Given the description of an element on the screen output the (x, y) to click on. 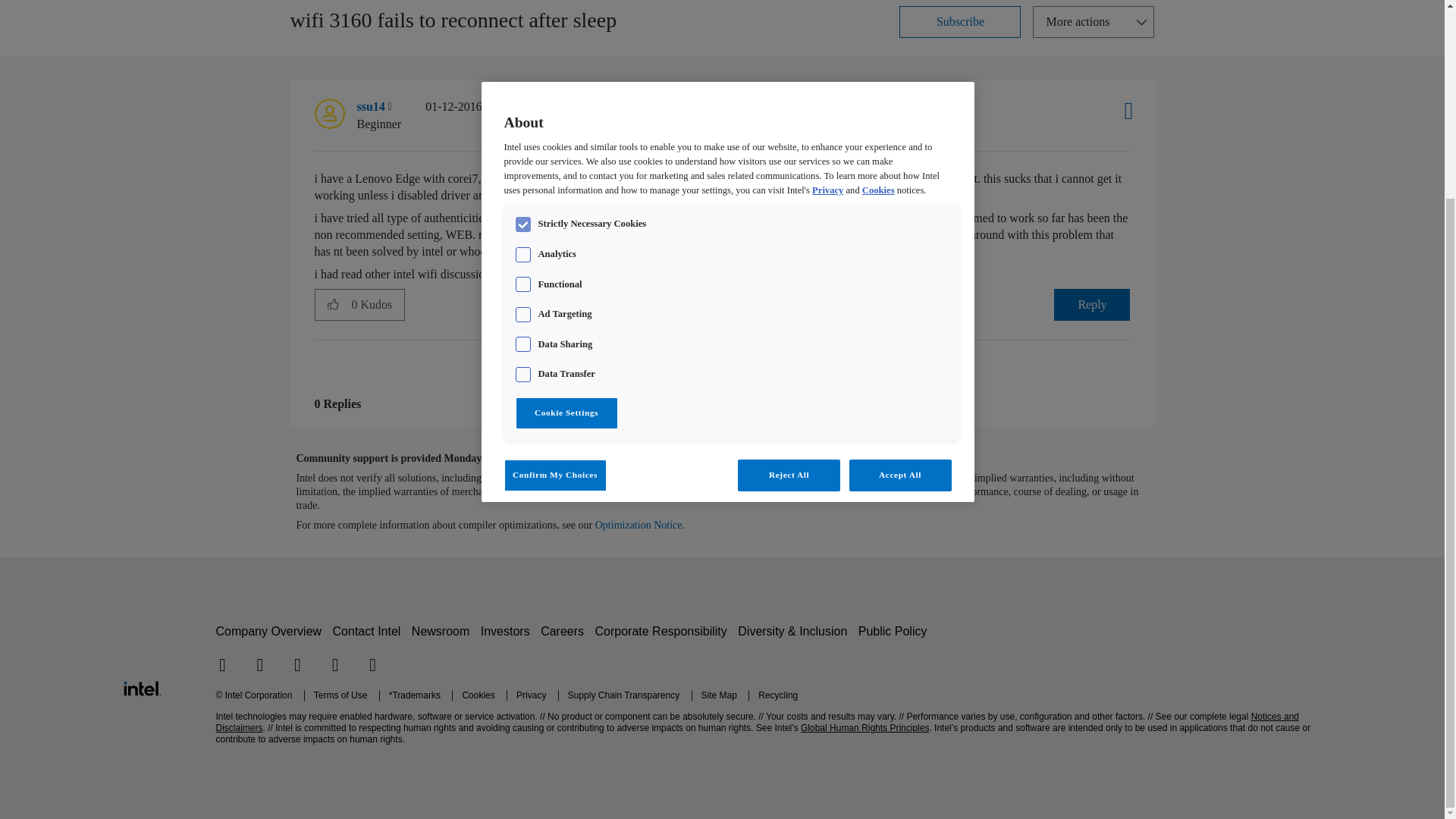
ssu14 (328, 113)
Click here to give kudos to this post. (332, 303)
The total number of kudos this post has received. (377, 304)
Show option menu (1093, 21)
Posted on (488, 115)
